Given the description of an element on the screen output the (x, y) to click on. 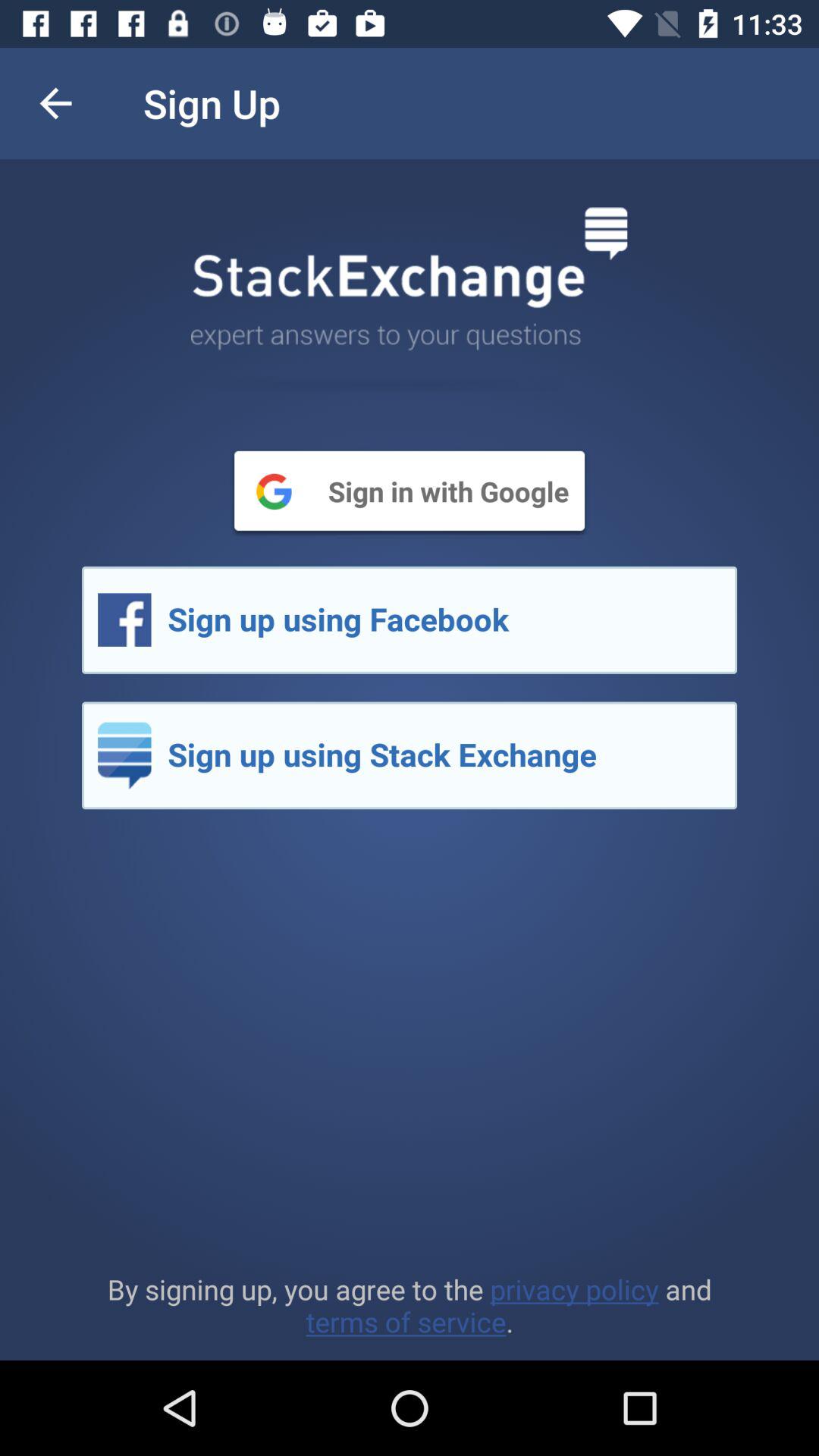
sign up using stack exchange credentials (409, 755)
